Given the description of an element on the screen output the (x, y) to click on. 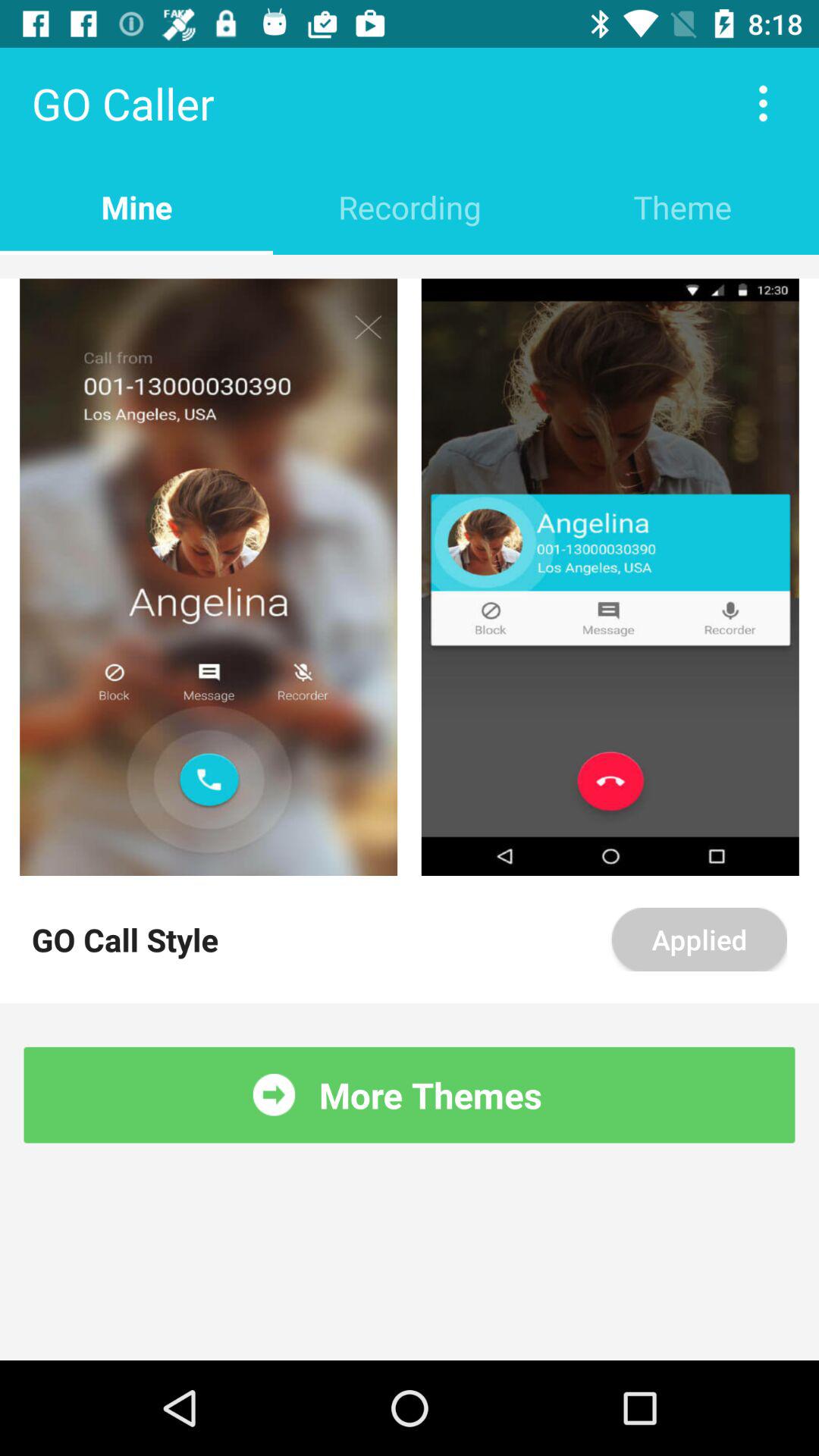
click the item next to the more themes item (274, 1094)
